Given the description of an element on the screen output the (x, y) to click on. 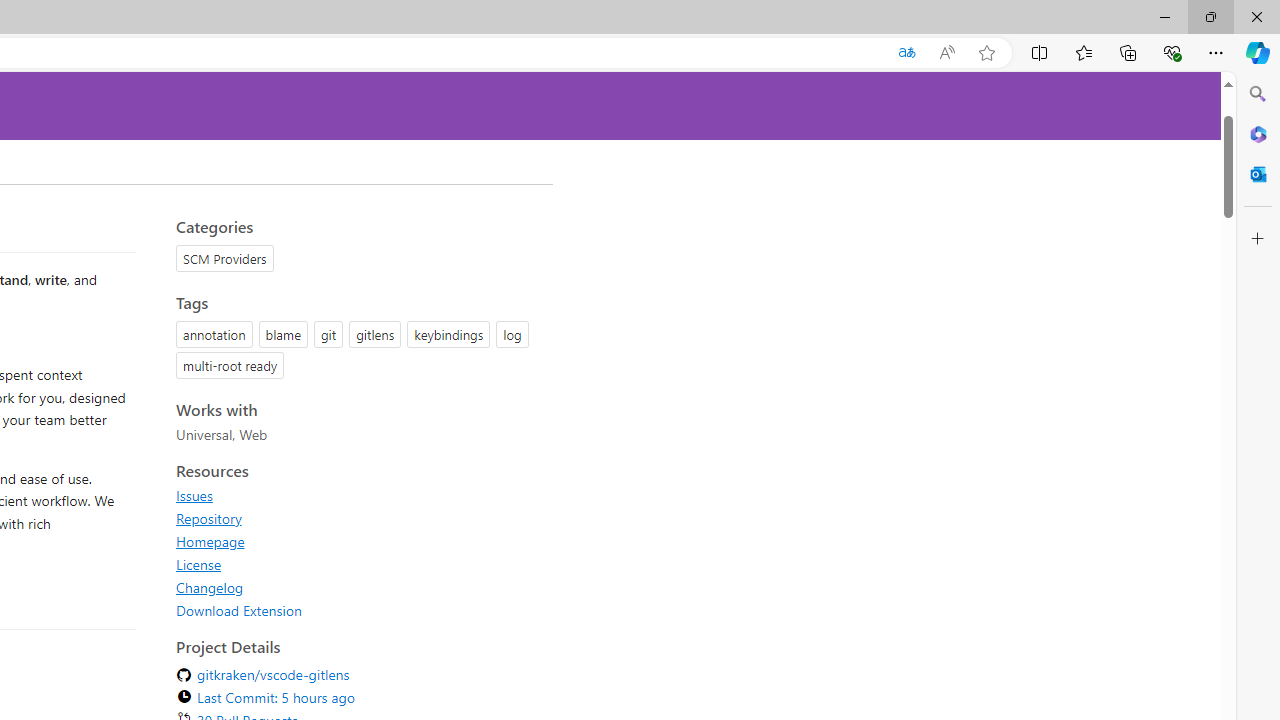
Repository (208, 518)
Download Extension (239, 610)
License (198, 564)
Changelog (358, 587)
